Given the description of an element on the screen output the (x, y) to click on. 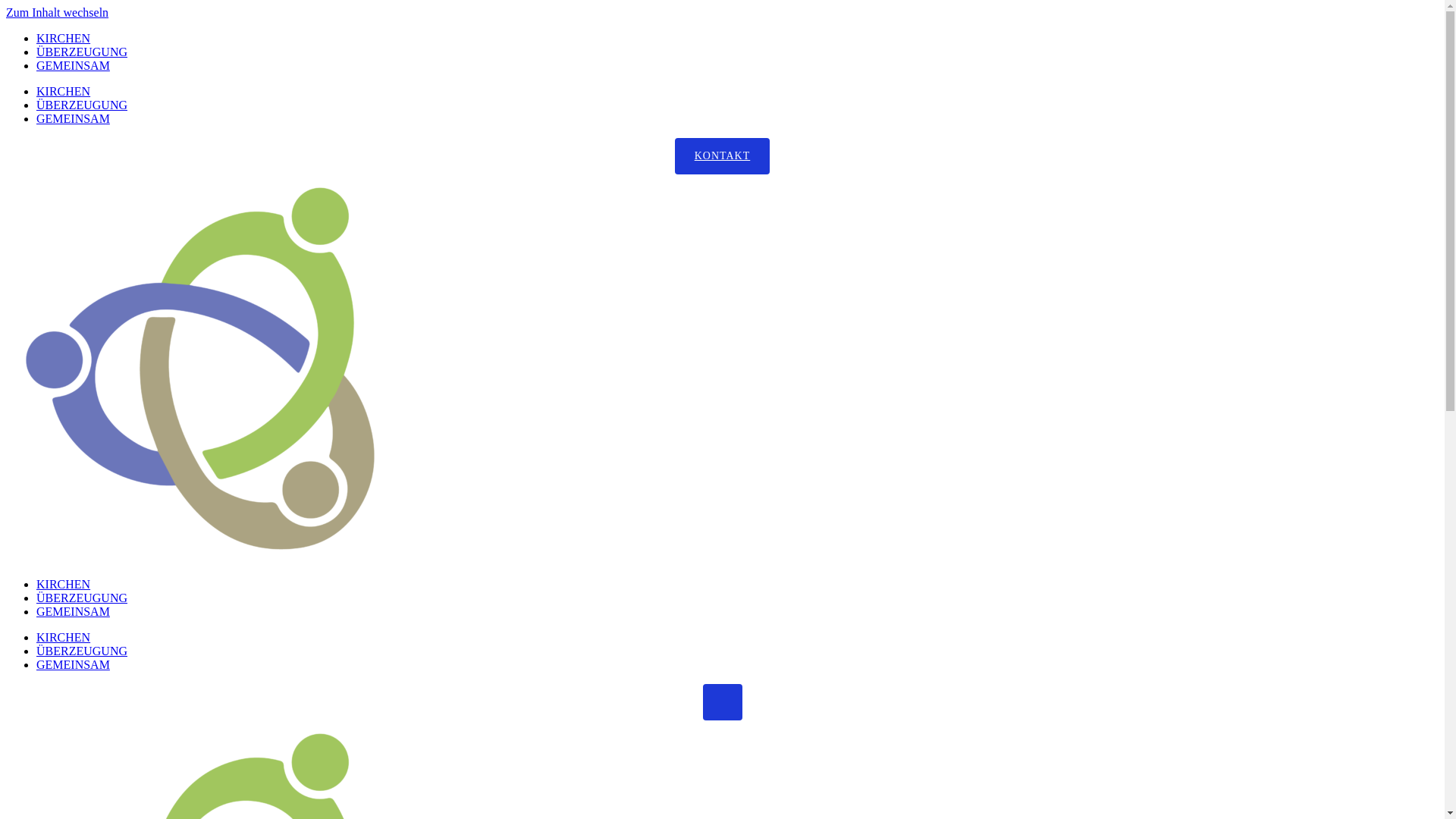
KIRCHEN Element type: text (63, 90)
GEMEINSAM Element type: text (72, 65)
GEMEINSAM Element type: text (72, 611)
GEMEINSAM Element type: text (72, 664)
KONTAKT Element type: text (722, 156)
KIRCHEN Element type: text (63, 636)
KIRCHEN Element type: text (63, 583)
KIRCHEN Element type: text (63, 37)
GEMEINSAM Element type: text (72, 118)
Zum Inhalt wechseln Element type: text (57, 12)
